Given the description of an element on the screen output the (x, y) to click on. 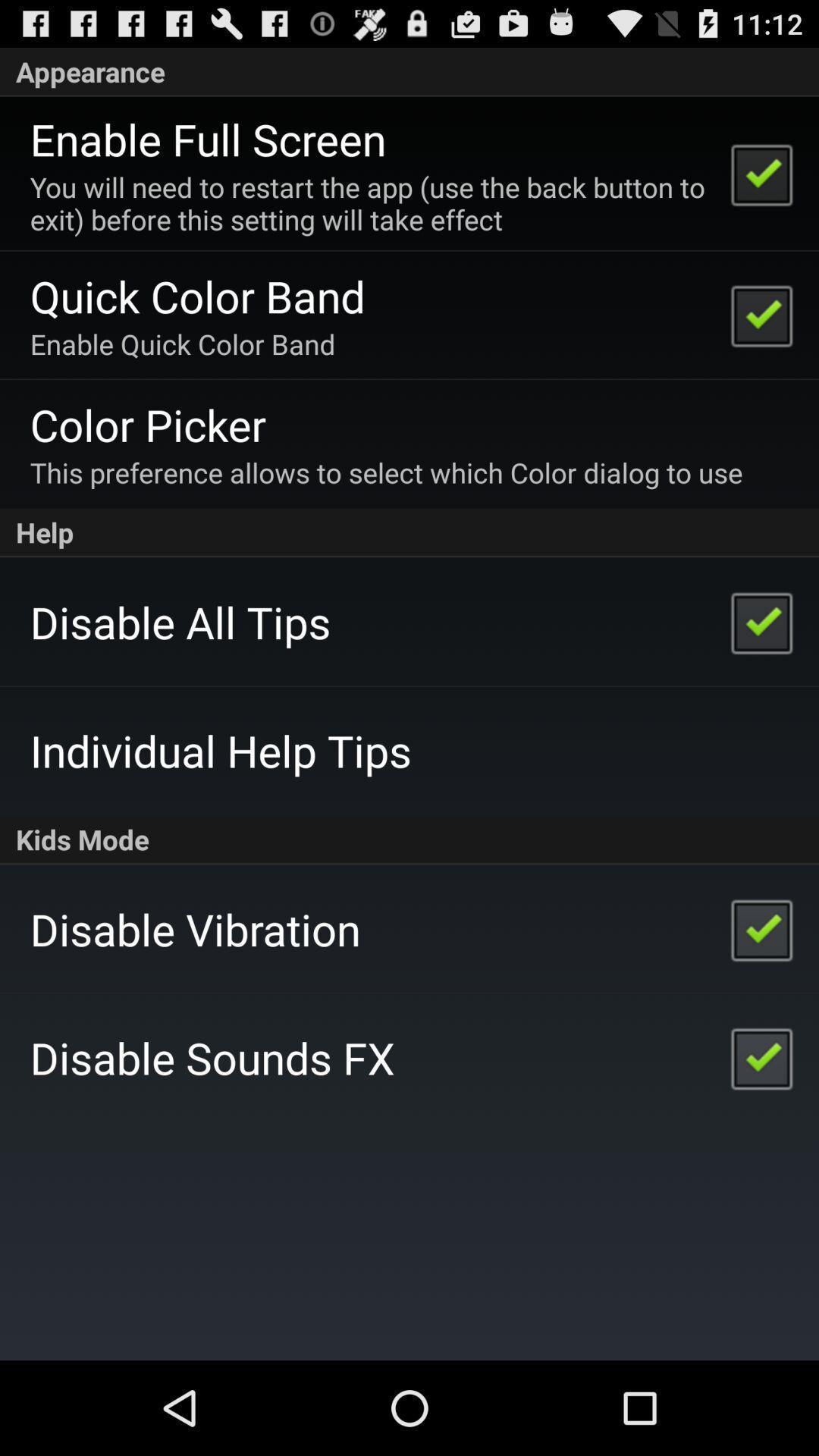
turn off the app below appearance (208, 138)
